Given the description of an element on the screen output the (x, y) to click on. 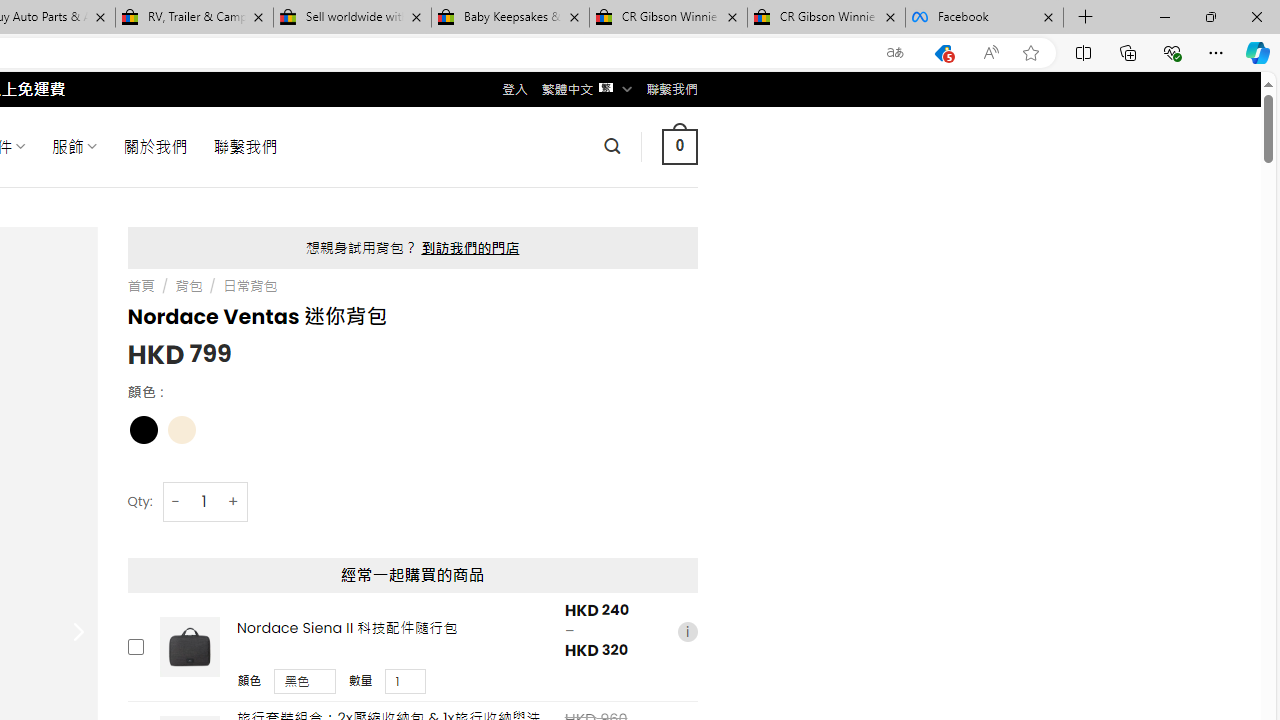
Class: upsell-v2-product-upsell-variable-product-qty-select (406, 681)
